Given the description of an element on the screen output the (x, y) to click on. 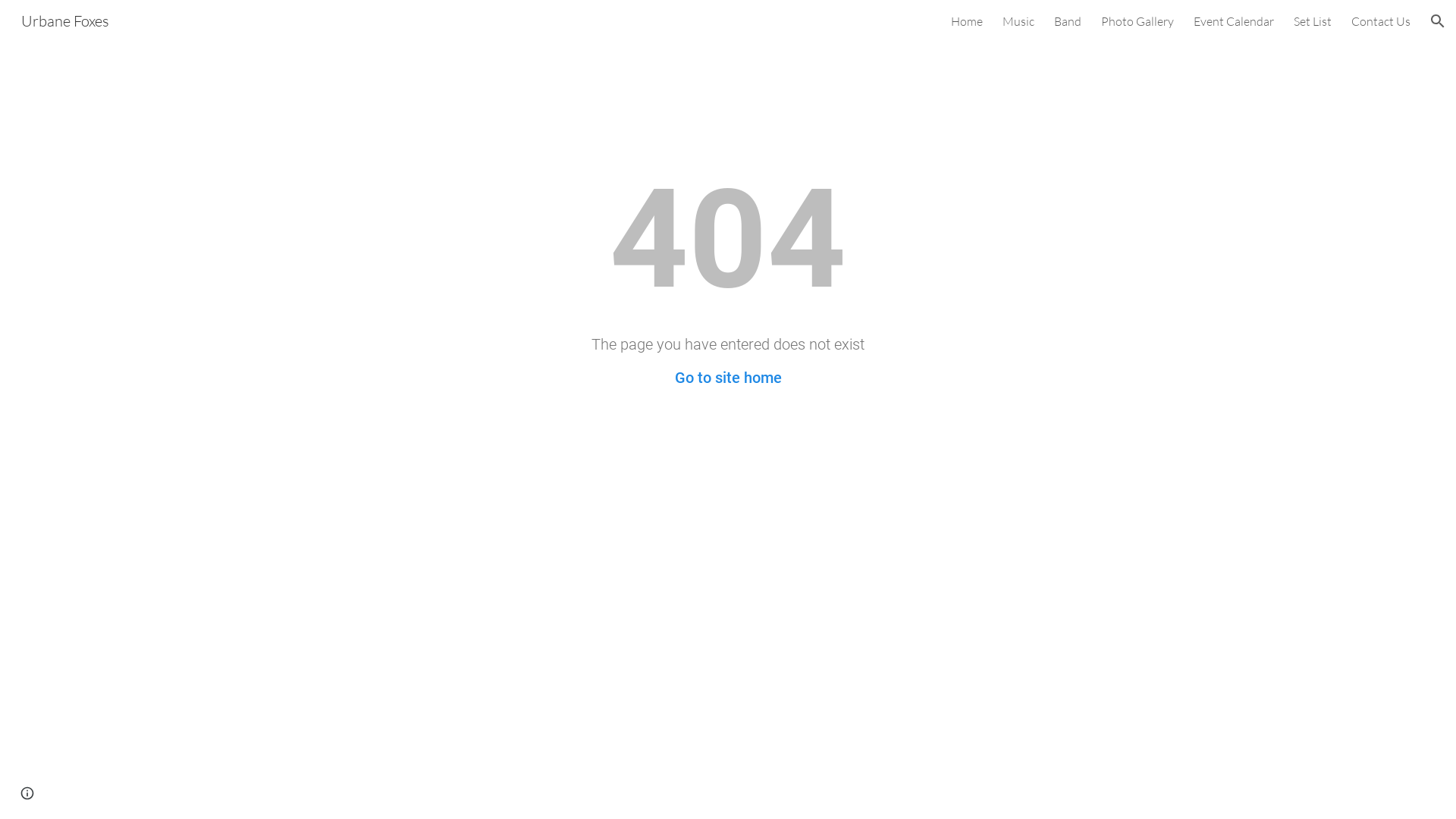
Event Calendar Element type: text (1233, 20)
Home Element type: text (966, 20)
Set List Element type: text (1312, 20)
Photo Gallery Element type: text (1137, 20)
Go to site home Element type: text (727, 377)
Urbane Foxes Element type: text (65, 18)
Band Element type: text (1067, 20)
Contact Us Element type: text (1380, 20)
Music Element type: text (1018, 20)
